Given the description of an element on the screen output the (x, y) to click on. 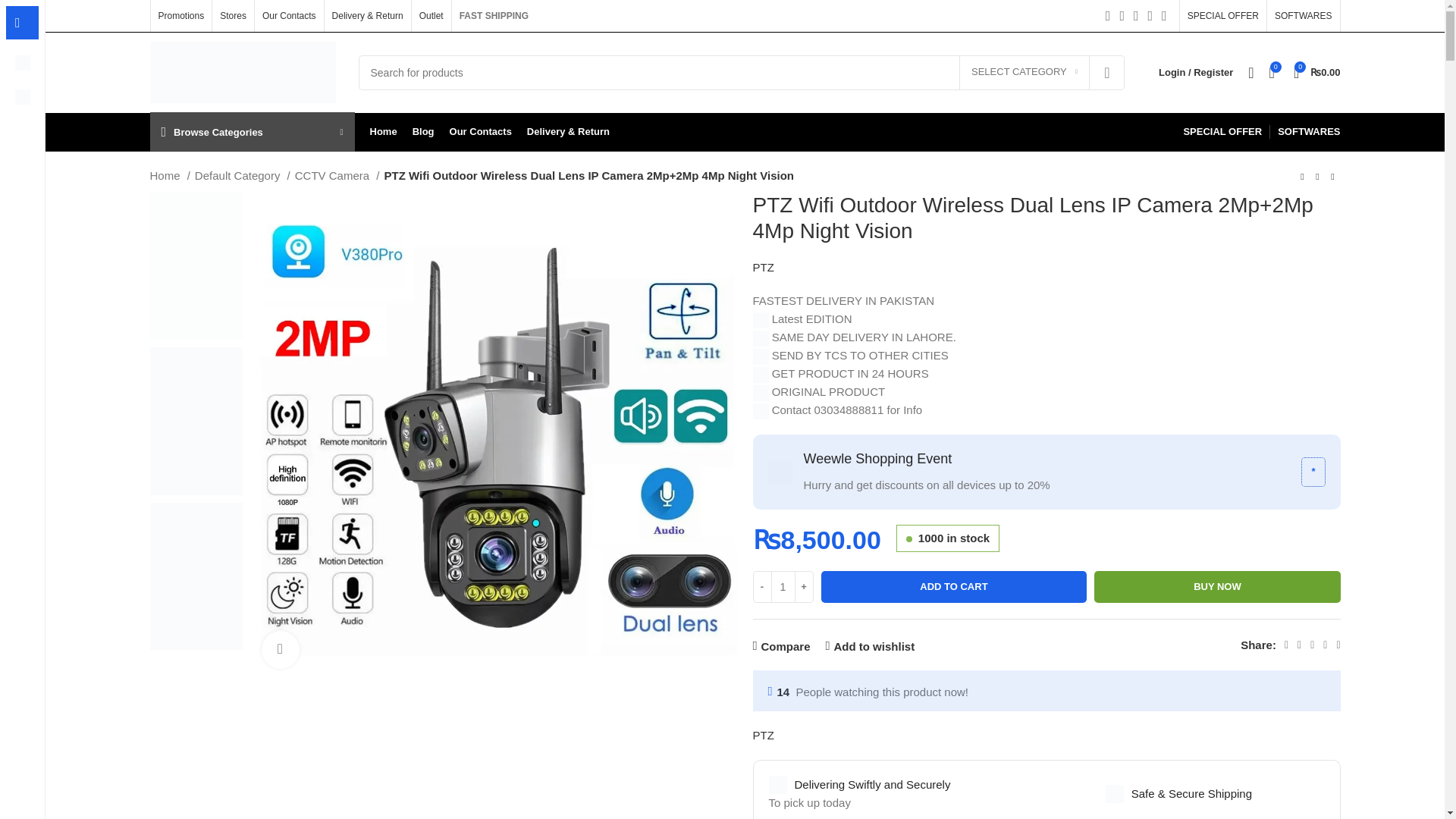
Home Appliance (22, 96)
SELECT CATEGORY (1024, 72)
Shopping cart (1316, 72)
SELECT CATEGORY (1024, 72)
Our Contacts (288, 15)
Search for products (741, 71)
Promotions (180, 15)
SOFTWARES (1303, 15)
SPECIAL OFFER (1223, 15)
promotions (779, 472)
